Given the description of an element on the screen output the (x, y) to click on. 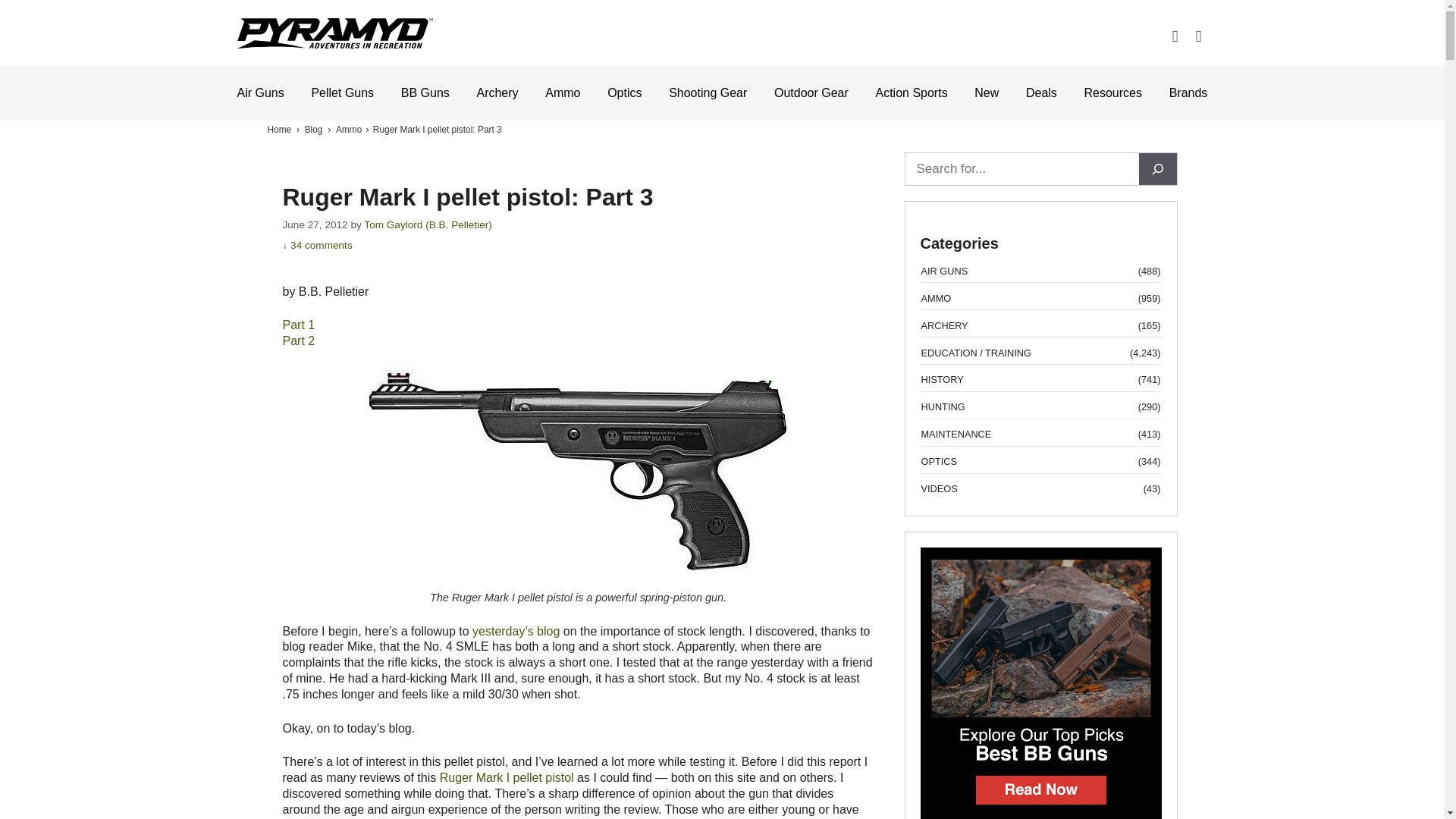
Home (278, 129)
Action Sports (911, 92)
View the Best BB Guns (1040, 813)
Blog (313, 129)
Deals (1041, 92)
New (986, 92)
Brands (1188, 92)
BB Guns (425, 92)
06-07-12-01-Ruger-Mark-I-pellet-pistol (577, 470)
Pellet Guns (342, 92)
Blog (313, 129)
Optics (624, 92)
Ammo (348, 129)
Outdoor Gear (811, 92)
34 comments (320, 244)
